Given the description of an element on the screen output the (x, y) to click on. 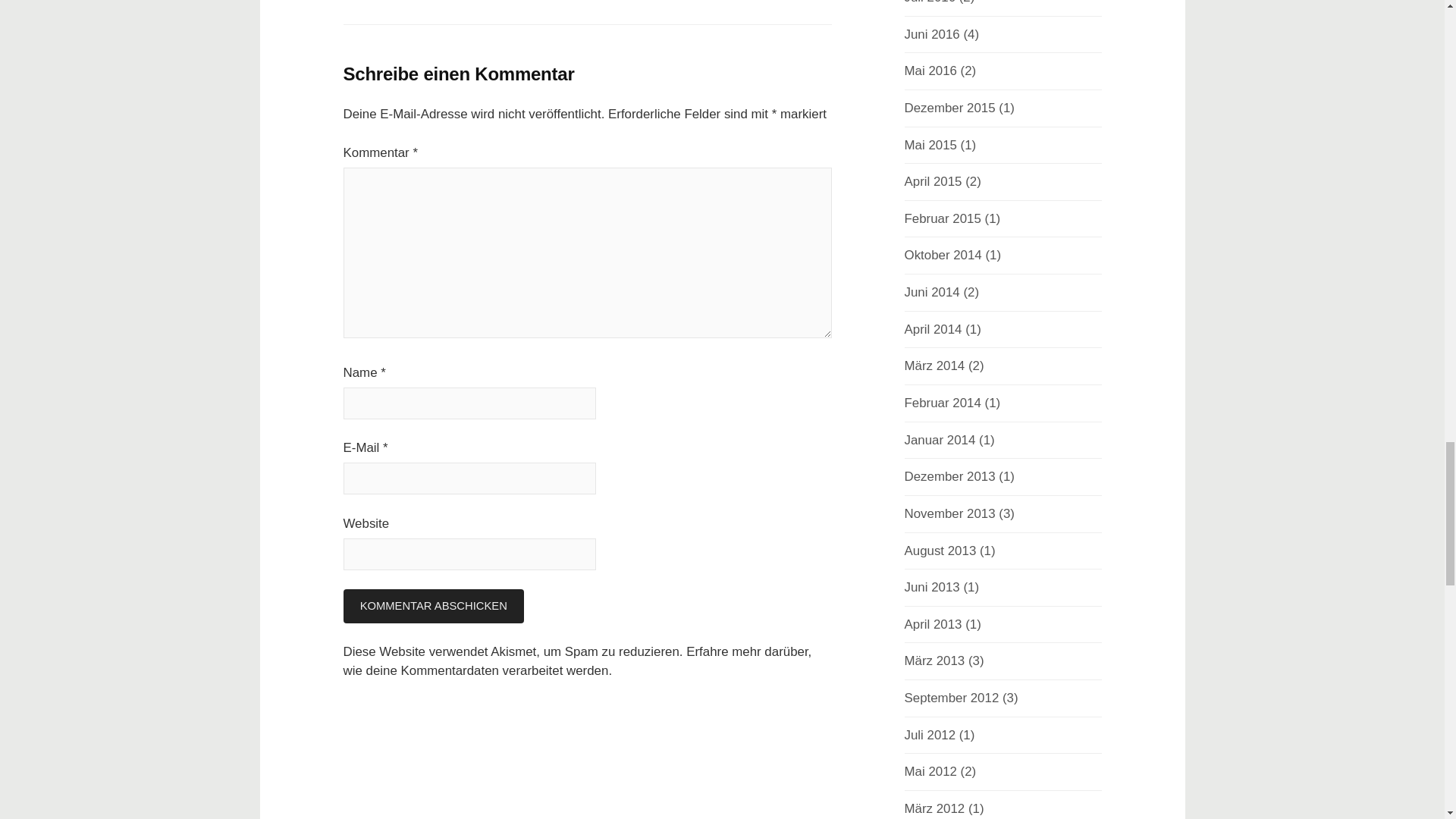
Kommentar abschicken (432, 605)
Kommentar abschicken (432, 605)
